Given the description of an element on the screen output the (x, y) to click on. 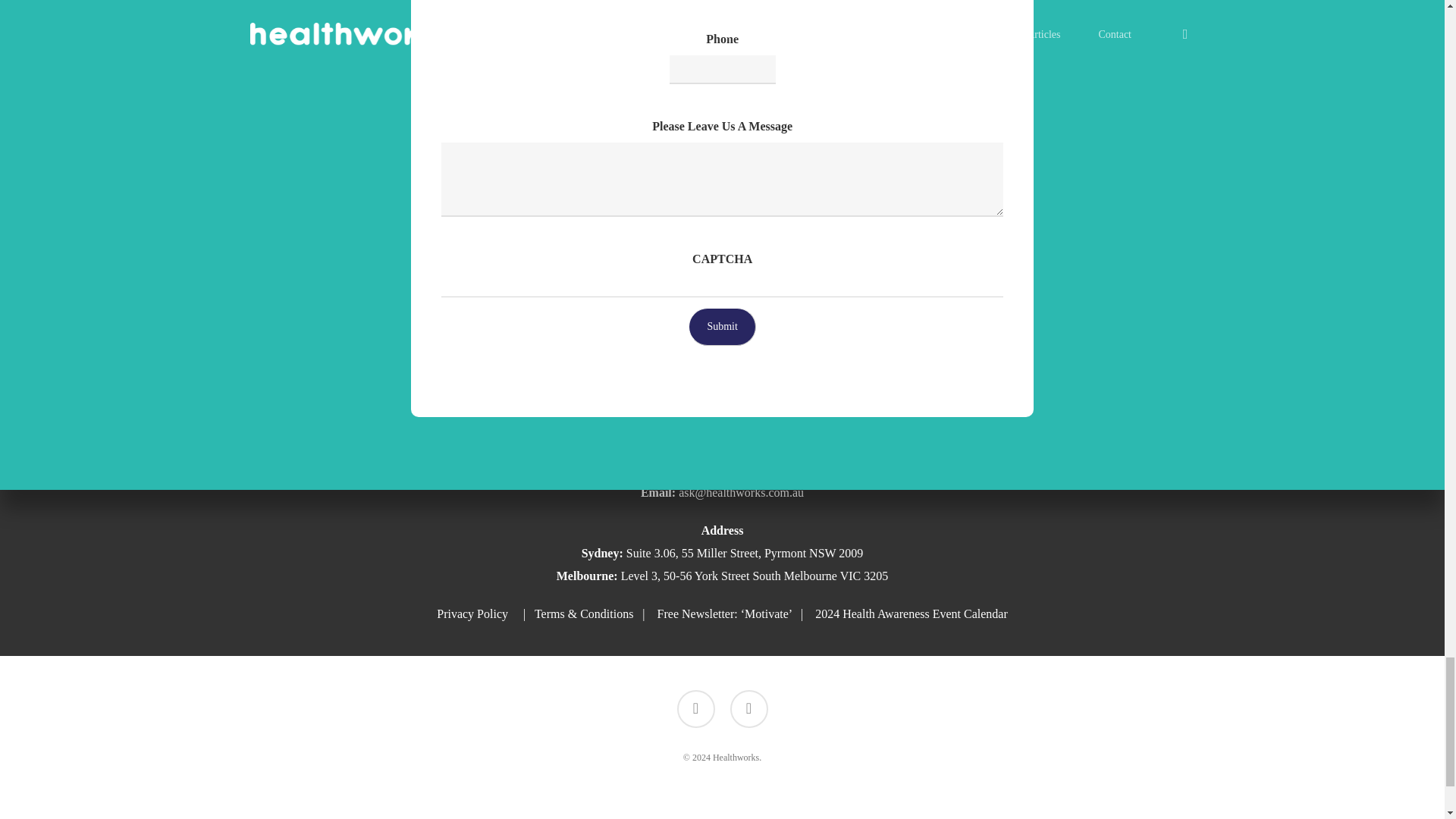
Submit (721, 326)
